Given the description of an element on the screen output the (x, y) to click on. 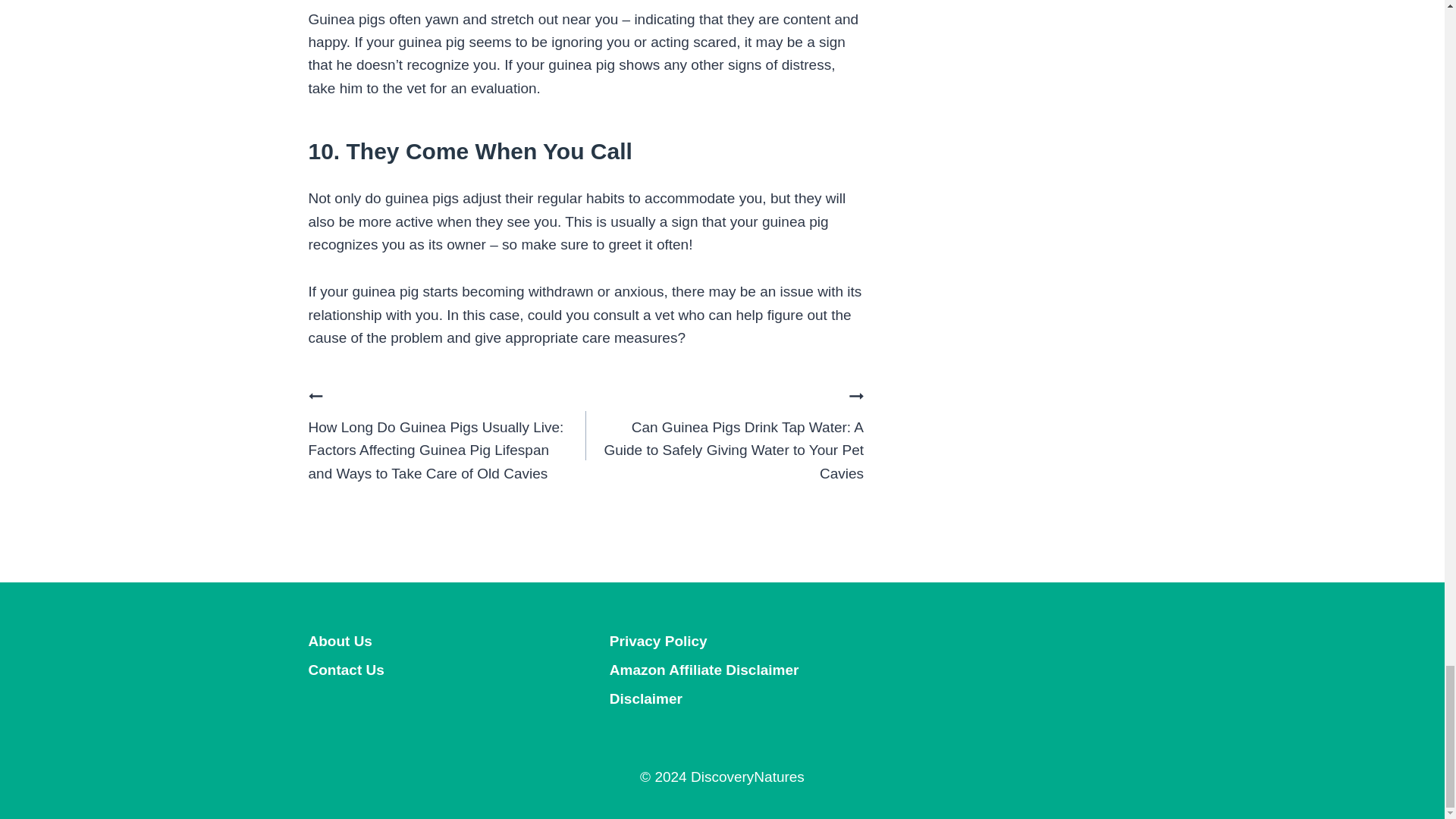
About Us (419, 642)
Amazon Affiliate Disclaimer (722, 670)
Disclaimer (722, 698)
Contact Us (419, 670)
Privacy Policy (722, 642)
